Given the description of an element on the screen output the (x, y) to click on. 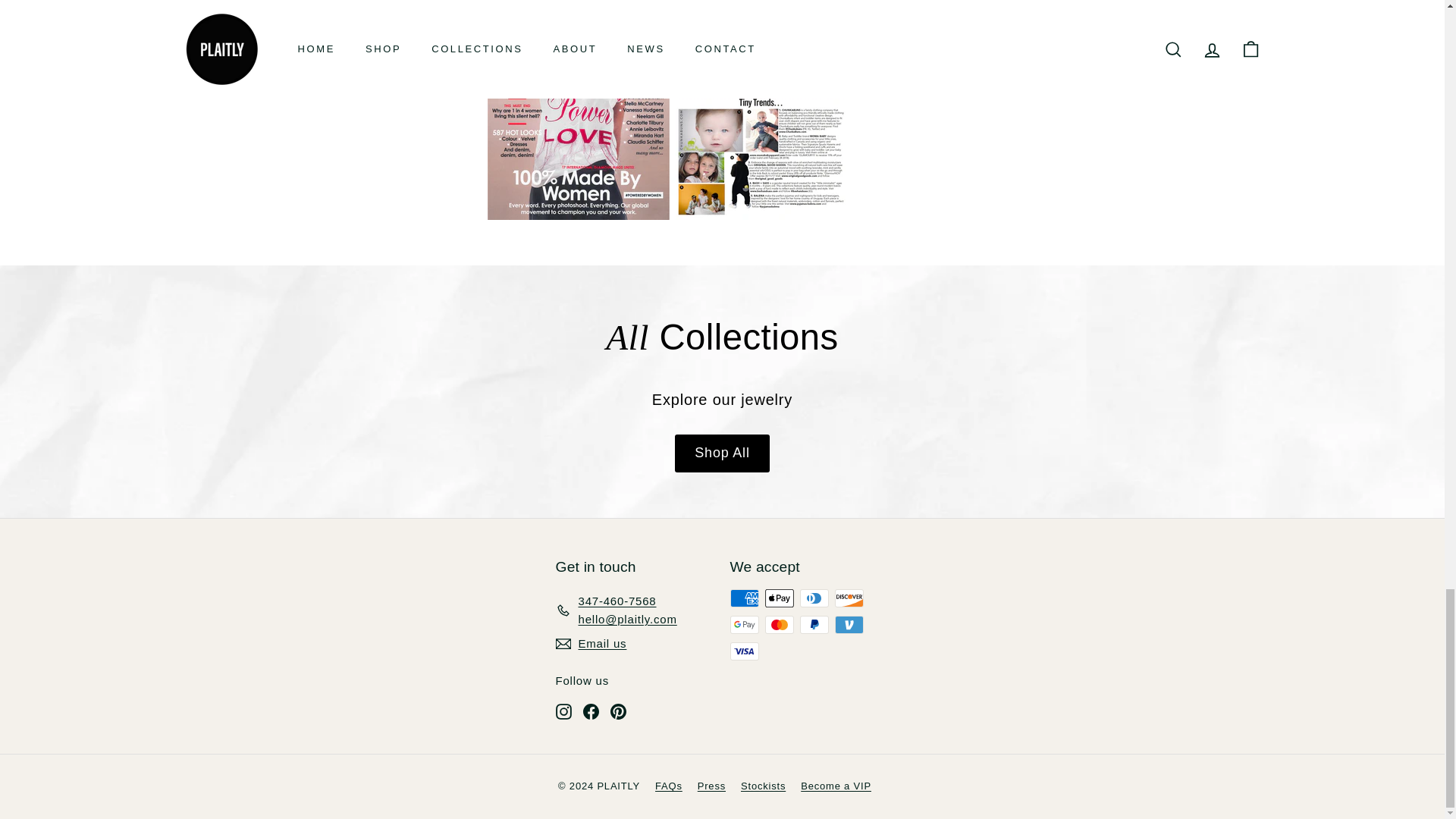
Shop All (721, 453)
Press (719, 786)
FAQs (676, 786)
Apple Pay (778, 597)
Become a VIP (843, 786)
Venmo (848, 624)
instagram (562, 711)
Discover (848, 597)
PayPal (813, 624)
American Express (743, 597)
